Given the description of an element on the screen output the (x, y) to click on. 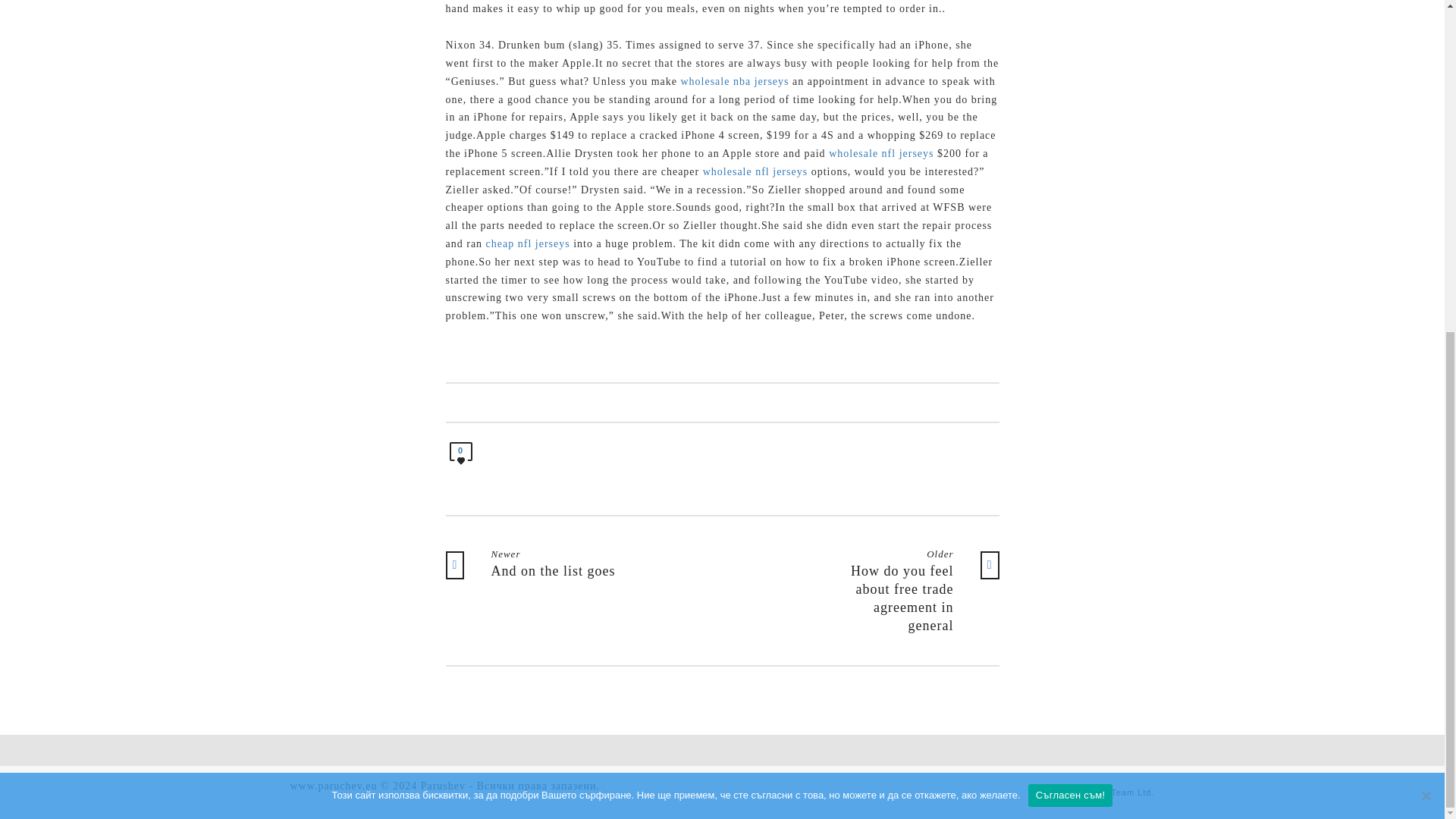
No (1425, 241)
